Given the description of an element on the screen output the (x, y) to click on. 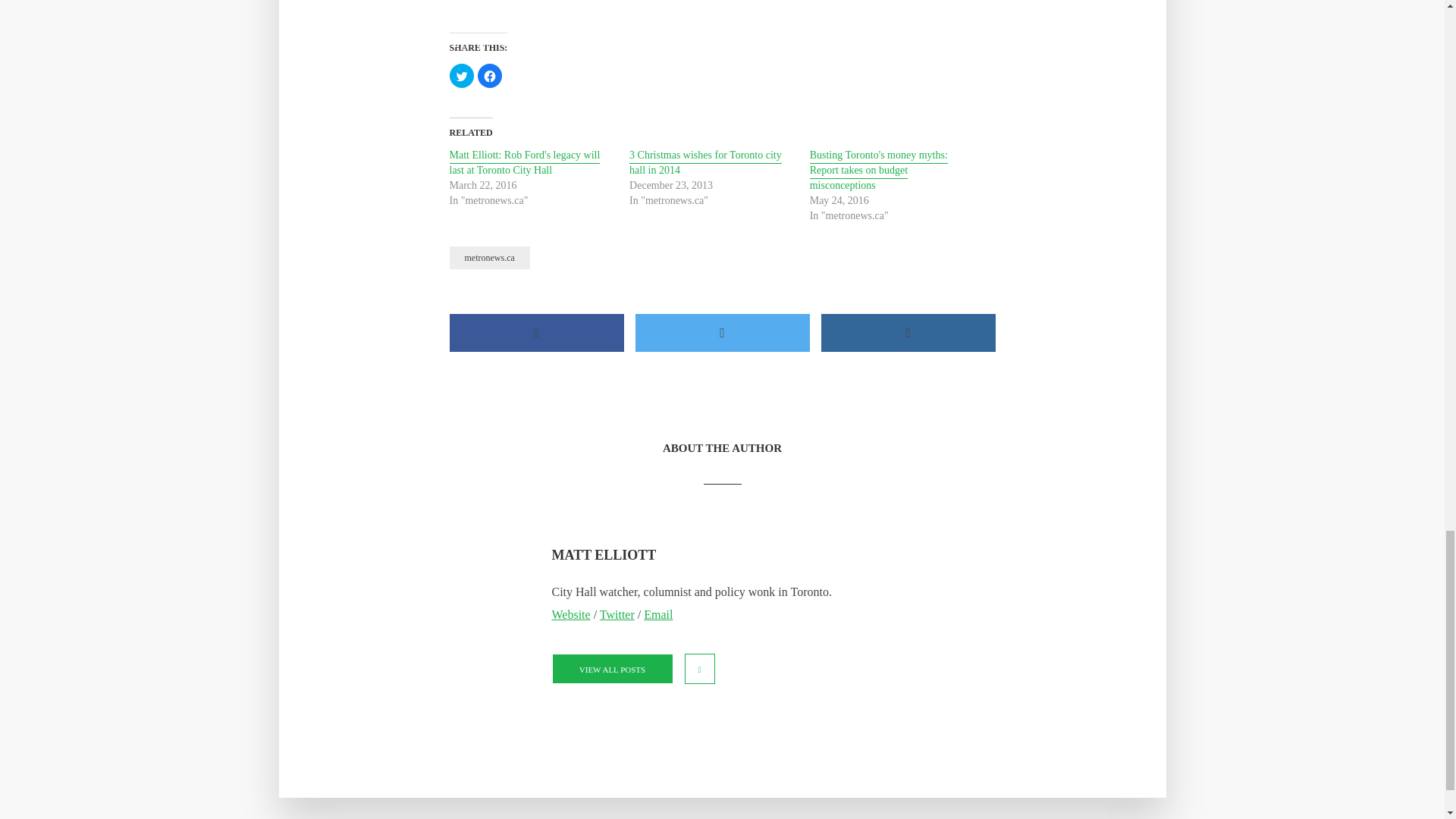
3 Christmas wishes for Toronto city hall in 2014 (704, 164)
VIEW ALL POSTS (611, 668)
Email (657, 614)
Click to share on Twitter (460, 75)
Click to share on Facebook (489, 75)
3 Christmas wishes for Toronto city hall in 2014 (704, 164)
Website (571, 614)
metronews.ca (488, 257)
Twitter (616, 614)
